Given the description of an element on the screen output the (x, y) to click on. 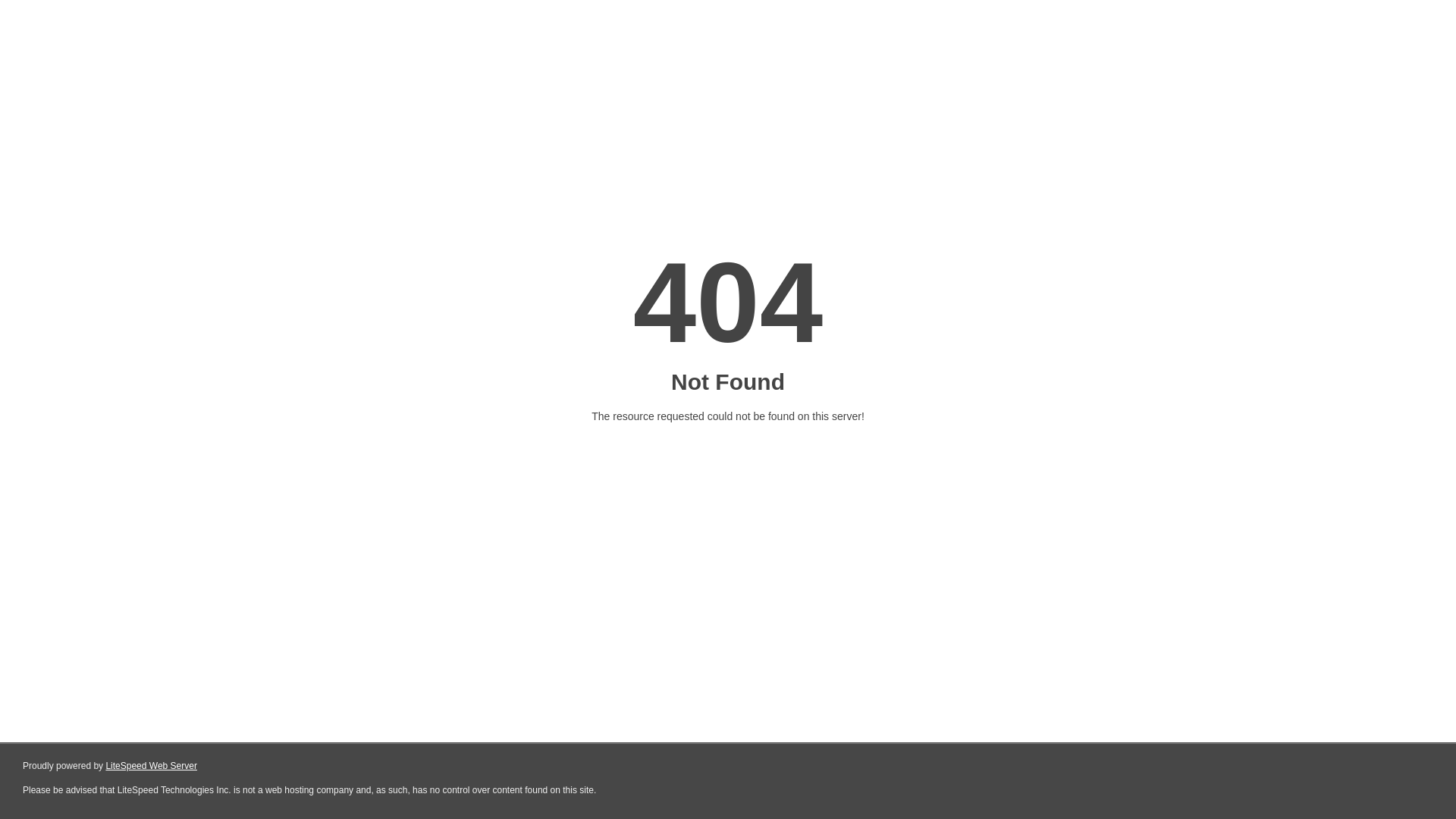
LiteSpeed Web Server Element type: text (151, 765)
